Given the description of an element on the screen output the (x, y) to click on. 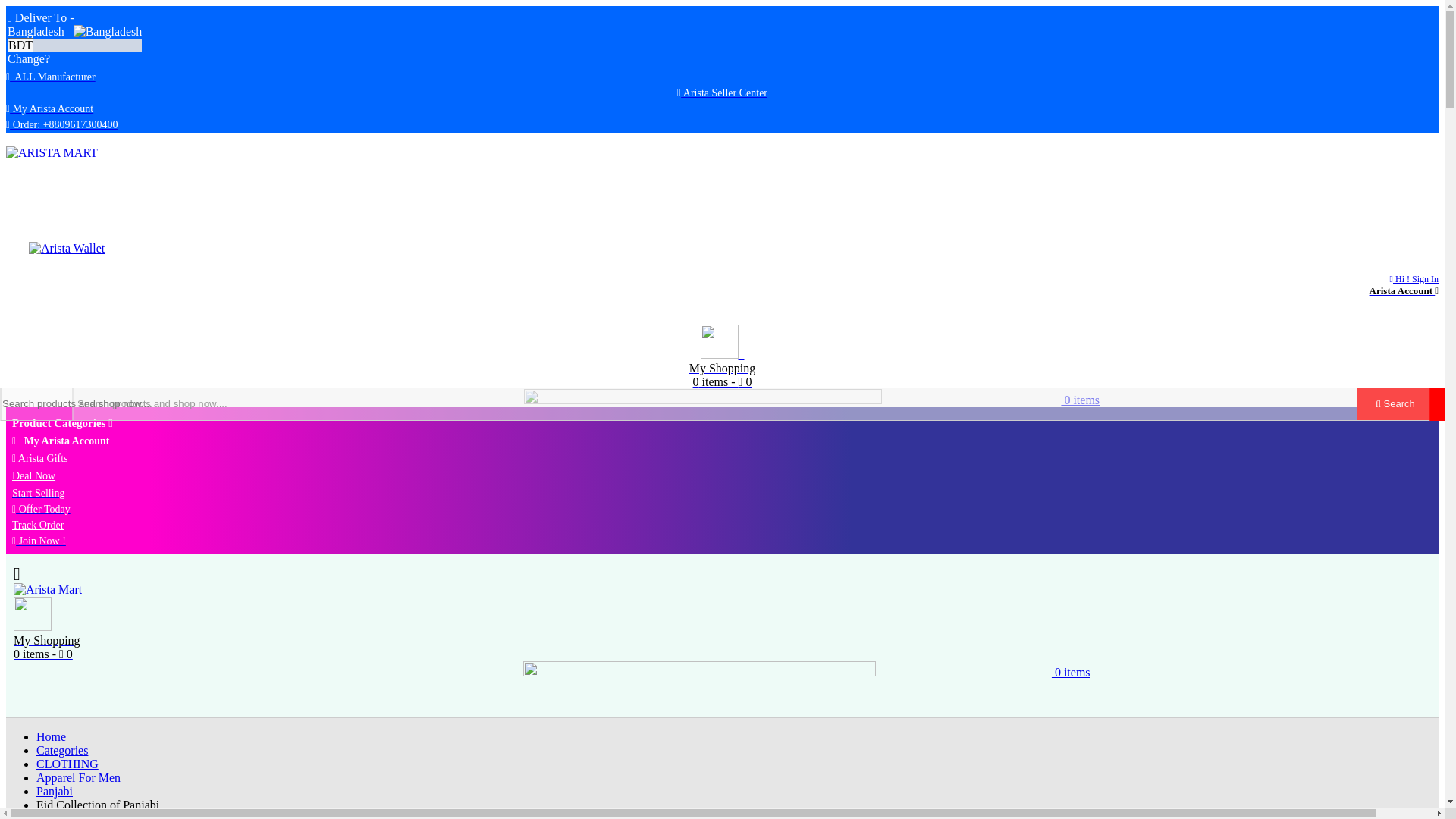
Join Now ! (38, 541)
Track Order (37, 525)
Bangladesh (108, 31)
Arista Seller Center (722, 92)
My Arista Account (49, 109)
 ALL Manufacturer (50, 75)
Offer Today (40, 509)
Bangladeshi taka (74, 45)
Start Selling (1404, 284)
Search (38, 492)
0 items (1394, 403)
Change? (722, 399)
Product Categories (28, 58)
Arista Gifts (62, 423)
